Given the description of an element on the screen output the (x, y) to click on. 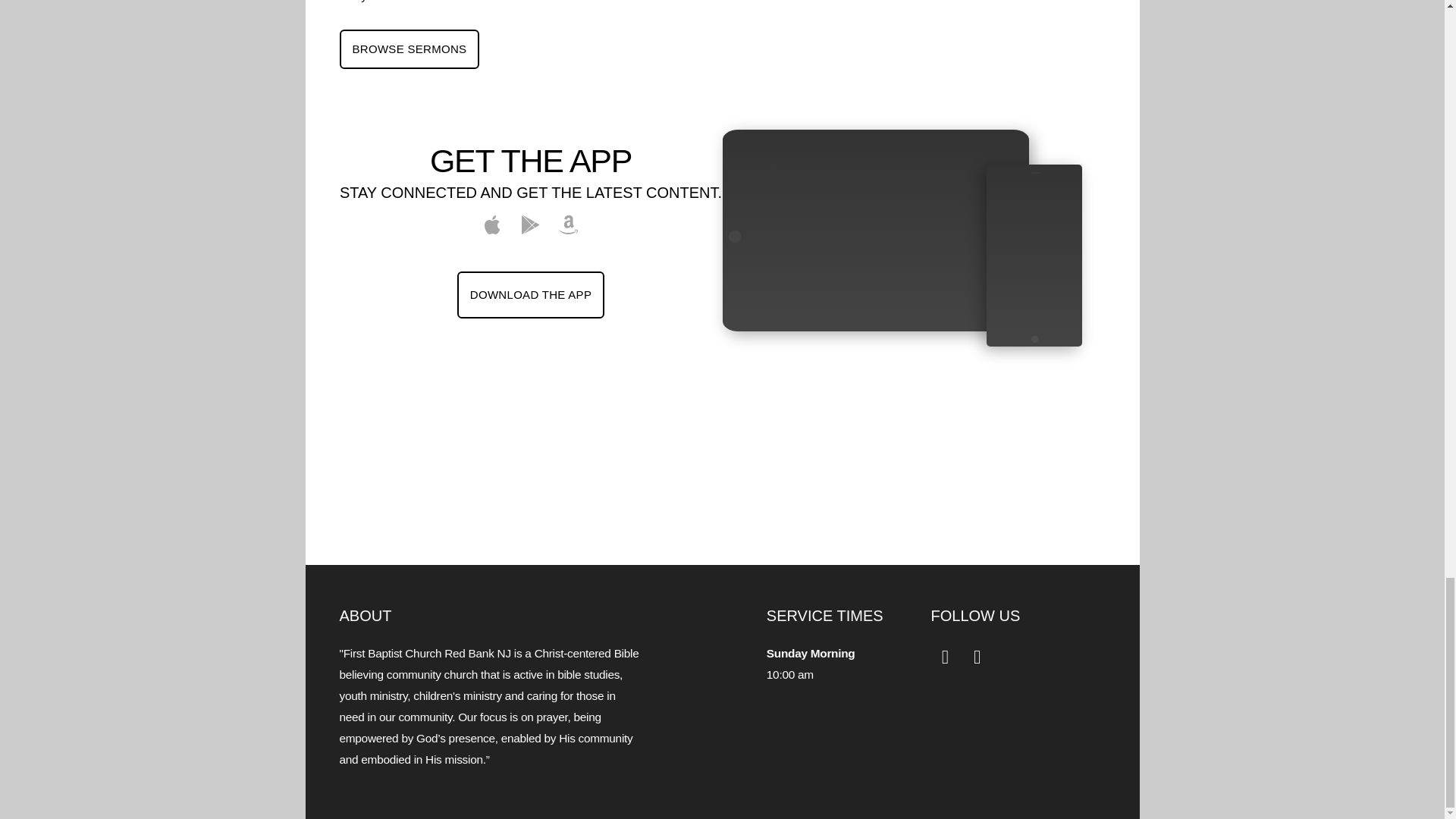
DOWNLOAD THE APP (530, 294)
BROWSE SERMONS (409, 47)
